Given the description of an element on the screen output the (x, y) to click on. 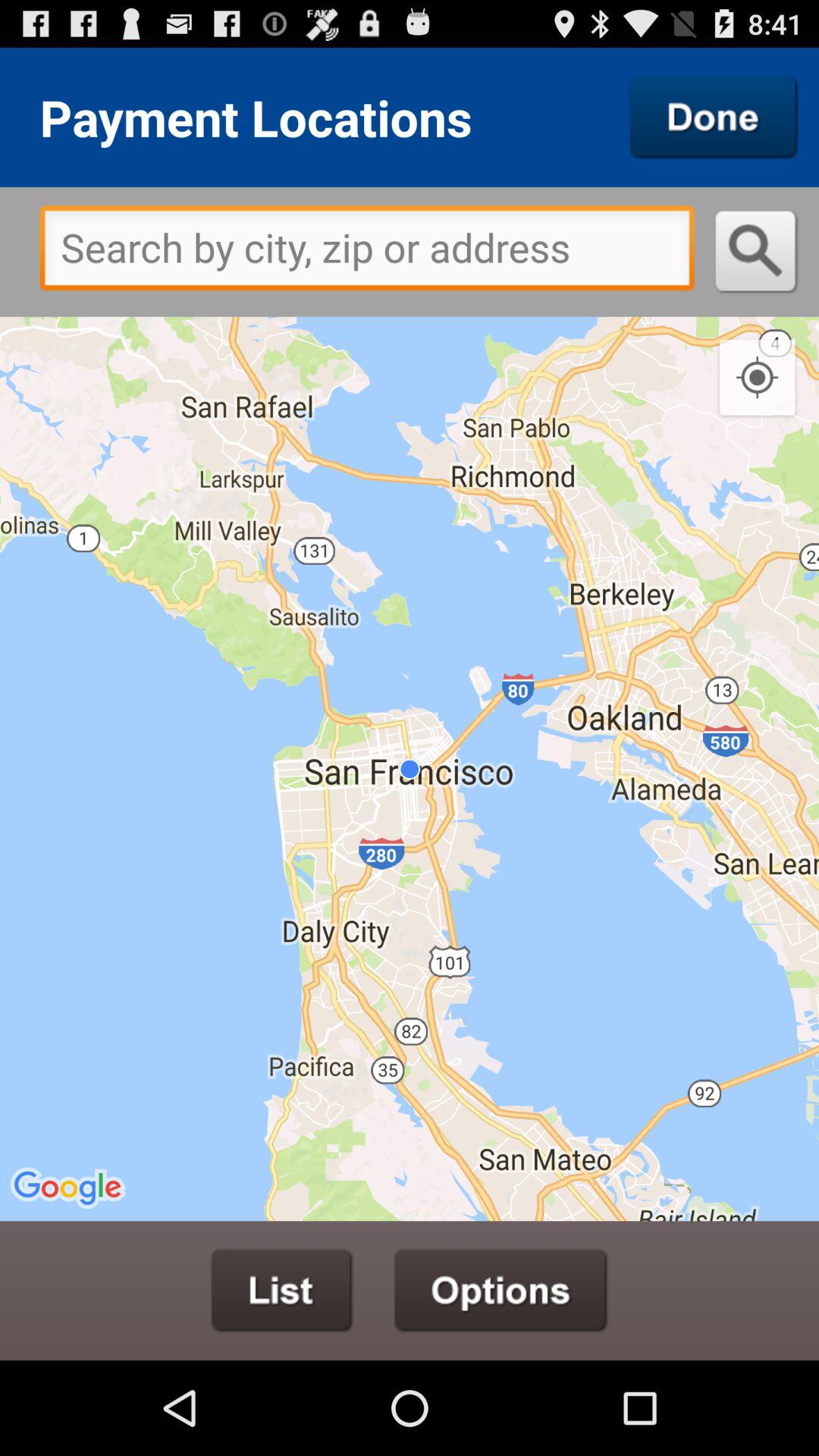
type city zip or address (366, 251)
